Given the description of an element on the screen output the (x, y) to click on. 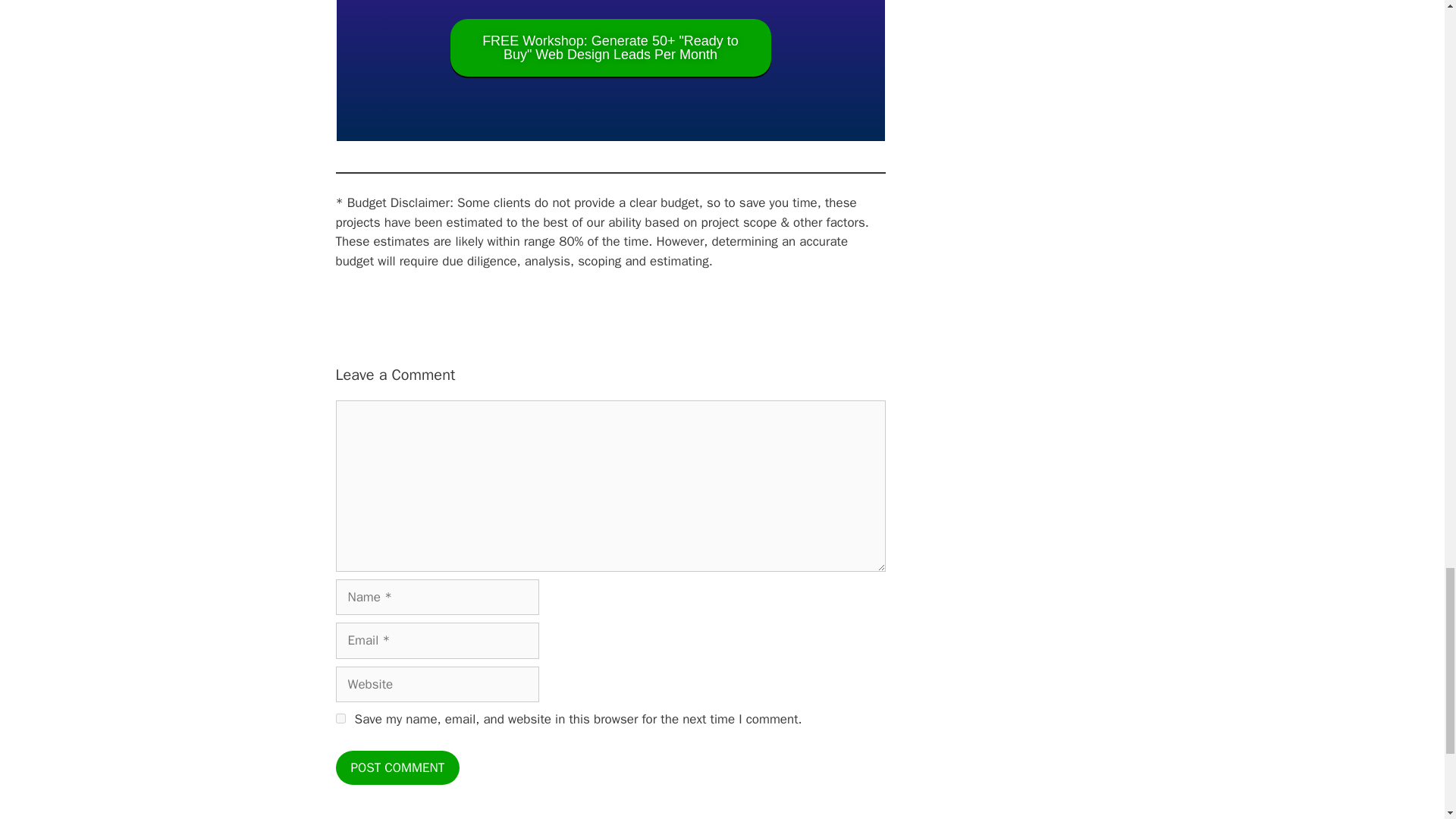
Post Comment (397, 768)
yes (339, 718)
Post Comment (397, 768)
